Given the description of an element on the screen output the (x, y) to click on. 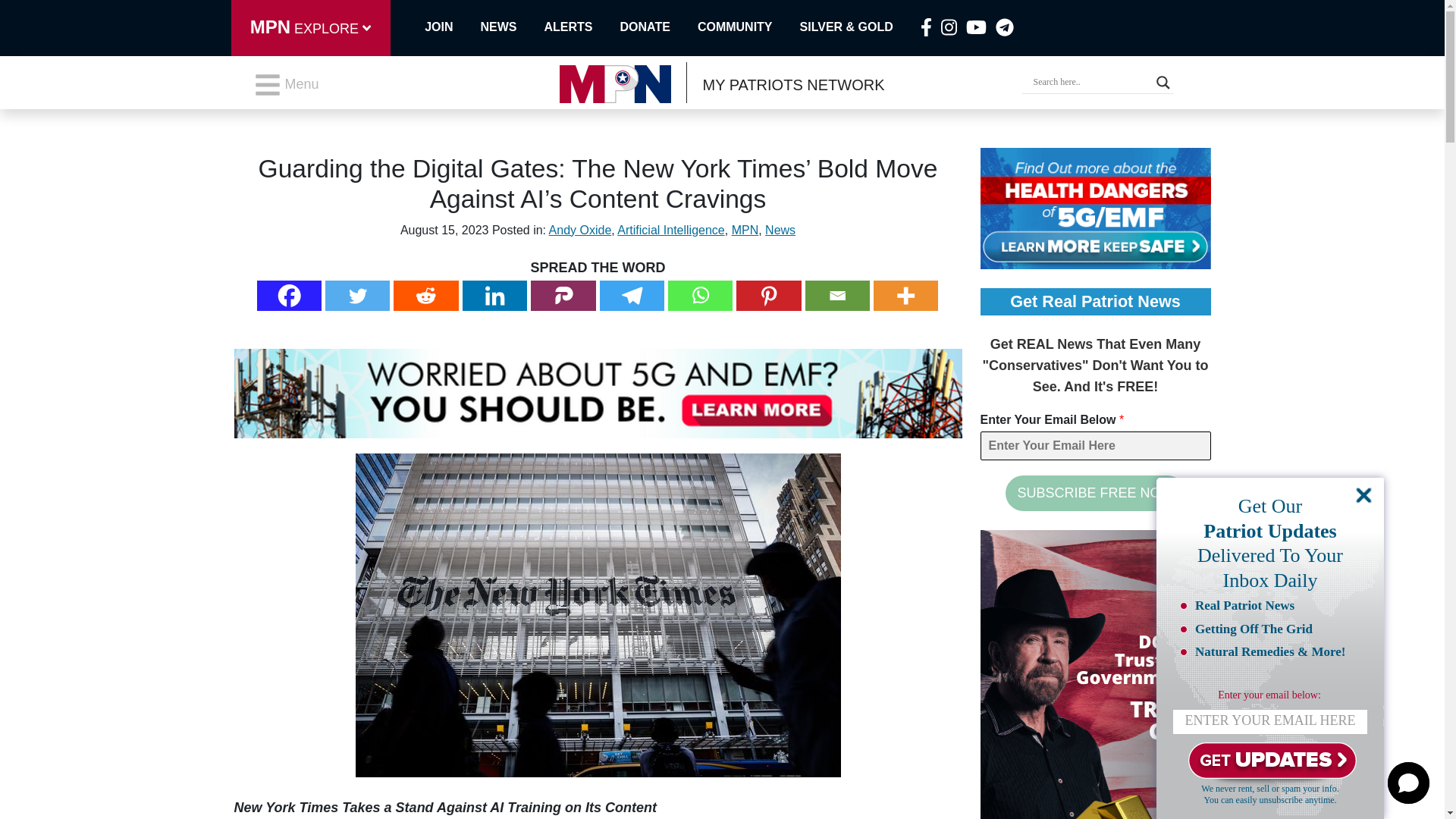
COMMUNITY (748, 26)
COMMUNITY (748, 26)
ALERTS (582, 26)
NEWS (512, 26)
Menu (285, 84)
JOIN (443, 26)
DONATE (658, 26)
NEWS (512, 26)
DONATE (658, 26)
MPN EXPLORE (310, 28)
ALERTS (582, 26)
JOIN (443, 26)
